Given the description of an element on the screen output the (x, y) to click on. 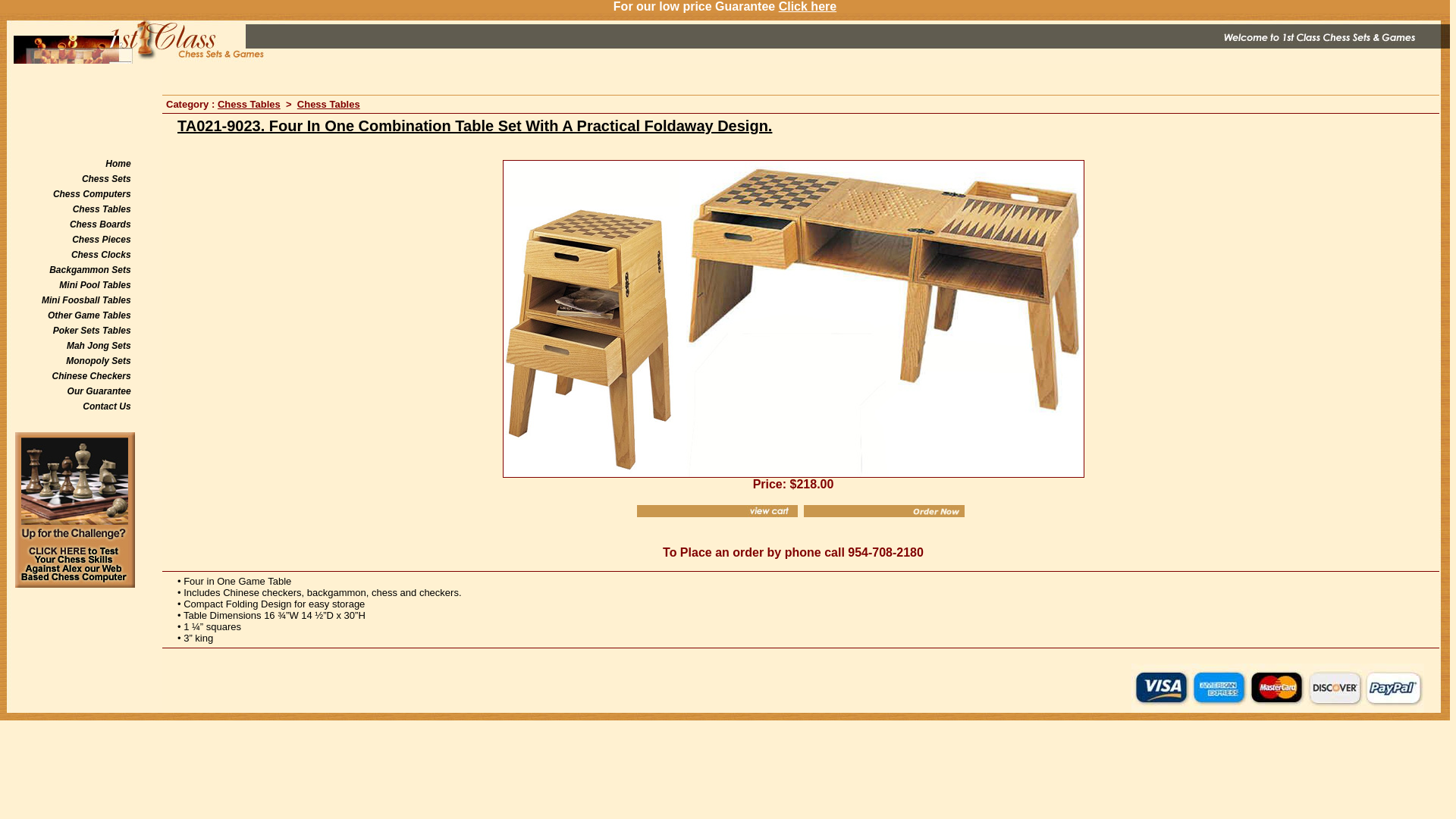
Chess Tables Element type: text (248, 103)
Chess Clocks Element type: text (101, 254)
Chess Boards Element type: text (100, 224)
Mini Pool Tables Element type: text (94, 284)
Our Guarantee Element type: text (99, 390)
Contact Us Element type: text (106, 406)
Chess Tables Element type: text (328, 103)
Click here Element type: text (807, 6)
Monopoly Sets Element type: text (97, 360)
Chinese Checkers Element type: text (91, 375)
Home Element type: text (117, 163)
Chess Pieces Element type: text (101, 239)
Backgammon Sets Element type: text (89, 269)
Mah Jong Sets Element type: text (98, 345)
Chess Sets Element type: text (106, 178)
Poker Sets Tables Element type: text (92, 330)
Mini Foosball Tables Element type: text (86, 299)
Chess Computers Element type: text (92, 193)
Other Game Tables Element type: text (89, 315)
Chess Tables Element type: text (101, 208)
